Given the description of an element on the screen output the (x, y) to click on. 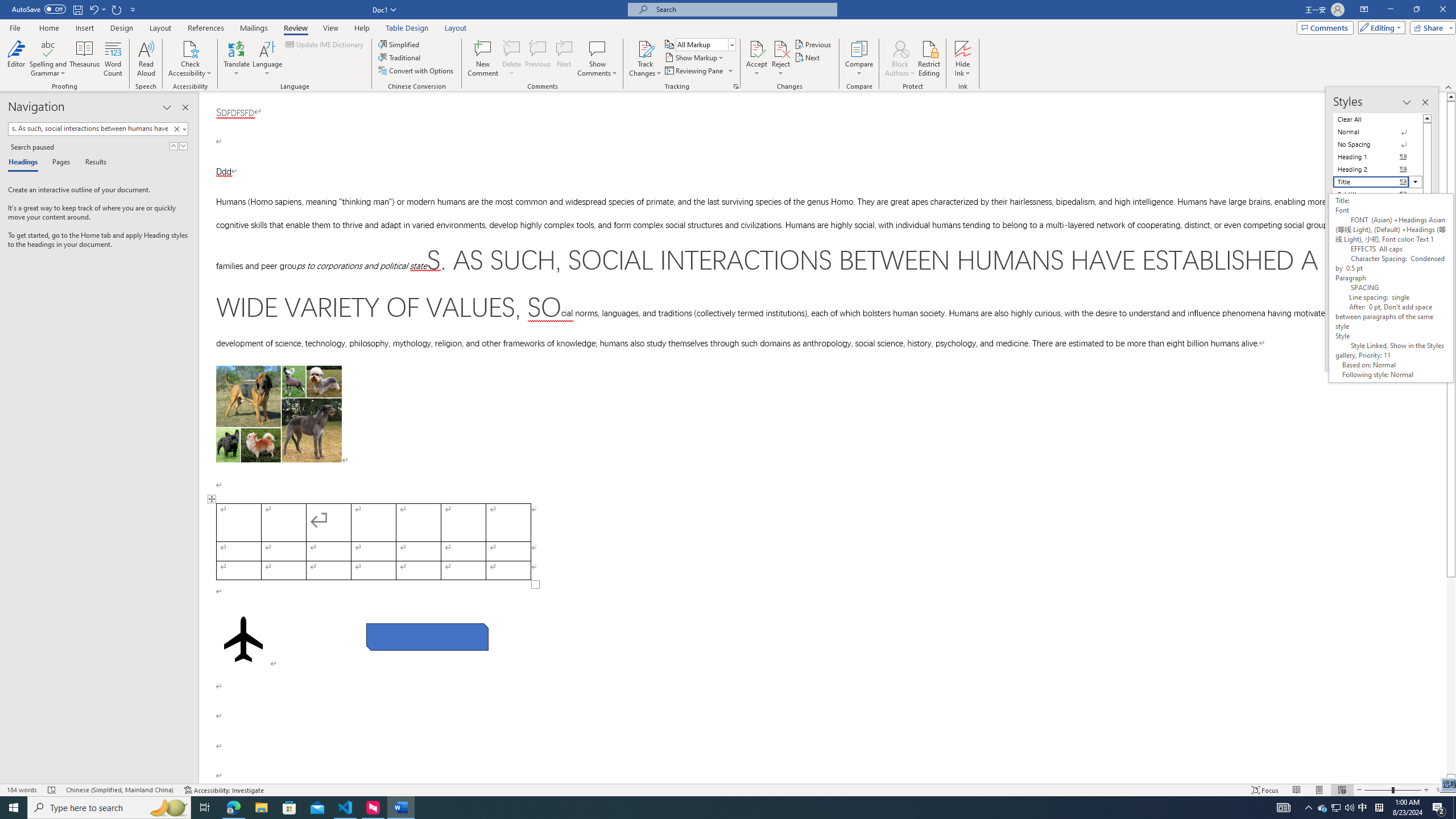
Undo Style (96, 9)
Intense Emphasis (1377, 232)
Word Count 184 words (22, 790)
Repeat Style (117, 9)
Intense Quote (1377, 269)
Book Title (1377, 306)
Hide Ink (962, 48)
Restrict Editing (929, 58)
Change Tracking Options... (735, 85)
Display for Review (705, 44)
Previous Result (173, 145)
